Given the description of an element on the screen output the (x, y) to click on. 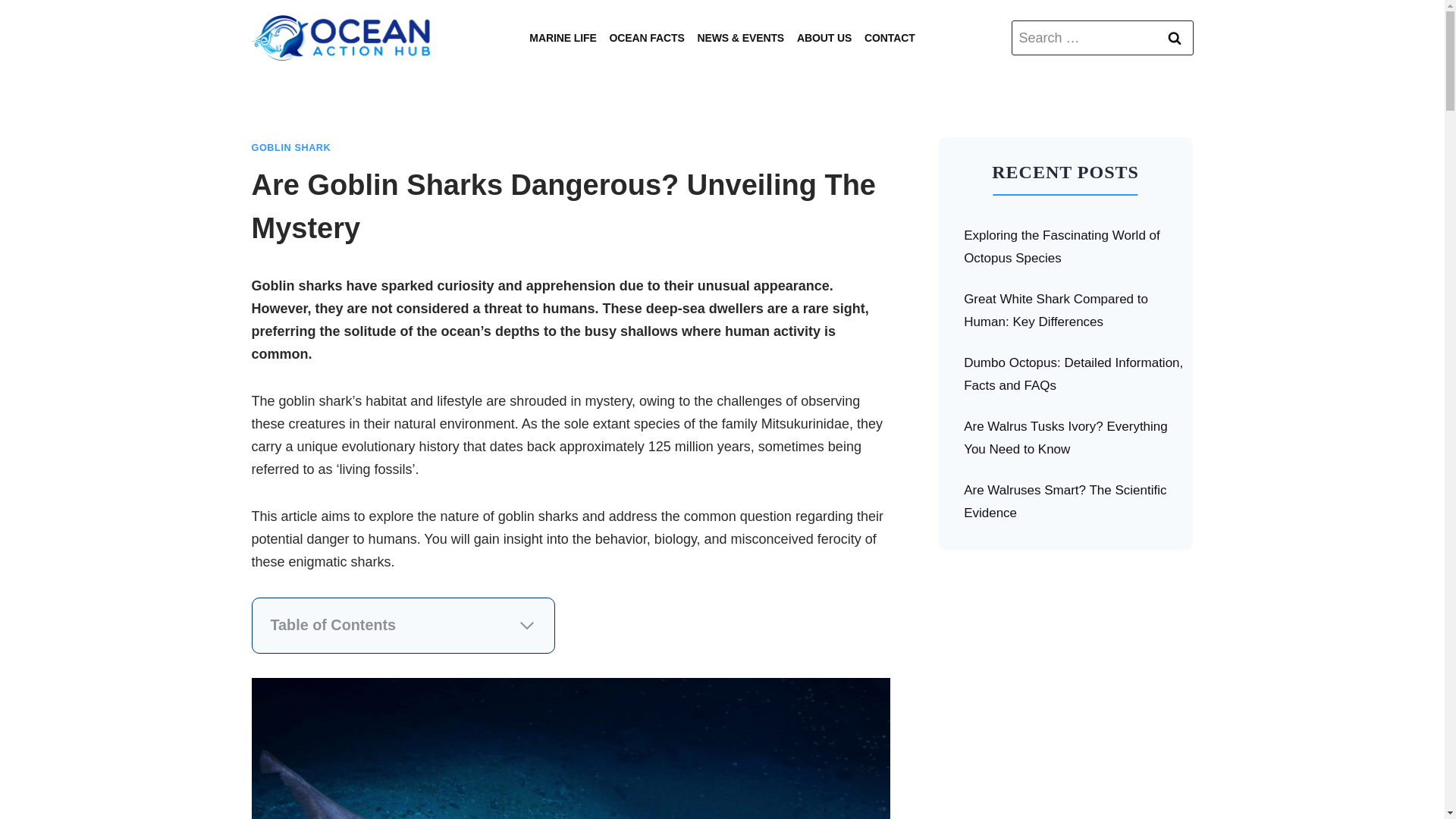
CONTACT (890, 38)
MARINE LIFE (562, 38)
OCEAN FACTS (646, 38)
Table of Contents (402, 625)
ABOUT US (823, 38)
Search (1174, 37)
Search (1174, 37)
GOBLIN SHARK (291, 147)
Search (1174, 37)
